Given the description of an element on the screen output the (x, y) to click on. 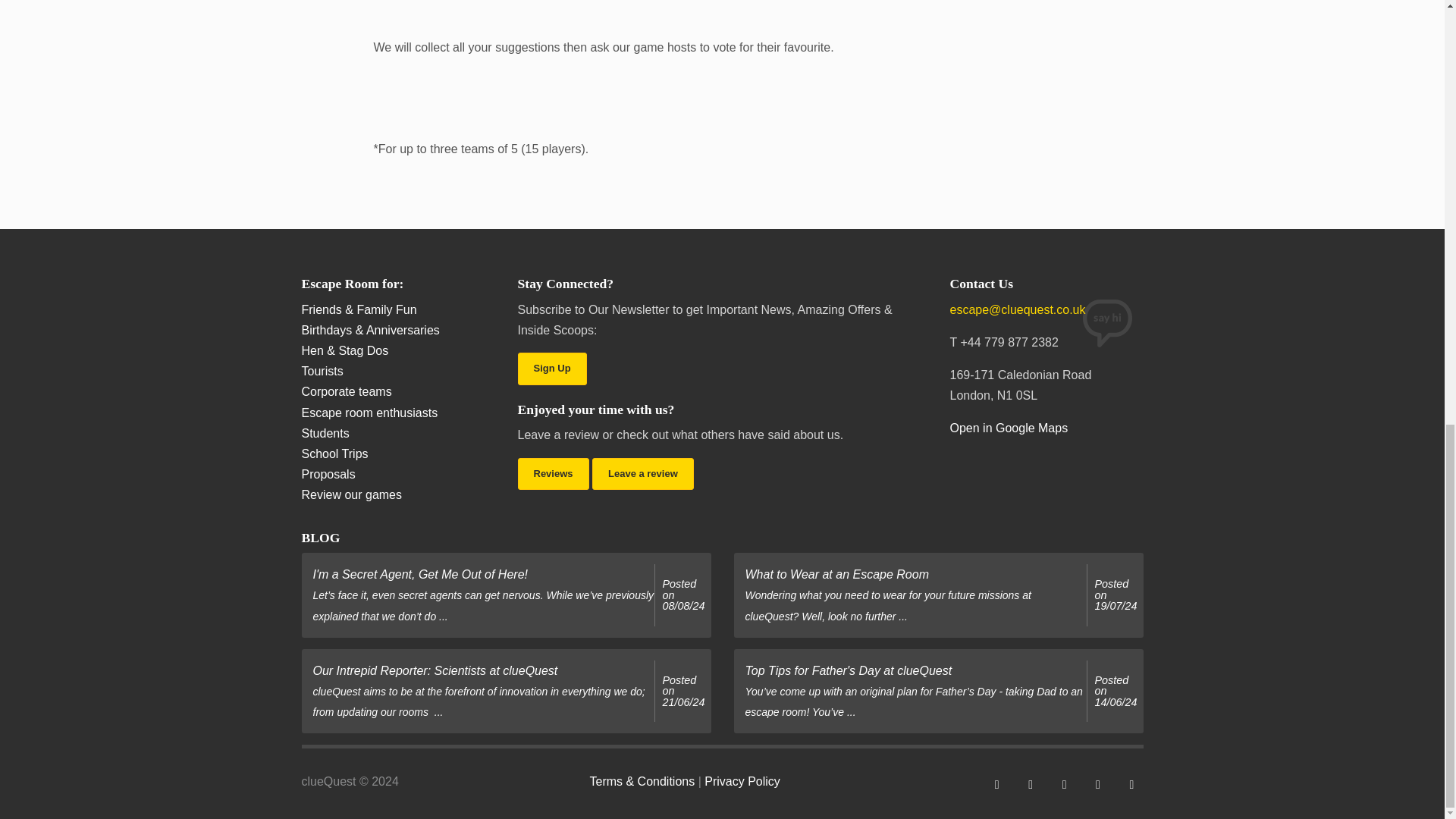
Twitter (1030, 782)
I'm a Secret Agent, Get Me Out of Here!  (683, 594)
Email (1130, 782)
Top Tips for Father's Day at clueQuest (1115, 690)
What to Wear at an Escape Room (1115, 594)
Instagram (1063, 782)
Tripadvisor (1097, 782)
Our Intrepid Reporter: Scientists at clueQuest (683, 690)
Facebook (997, 782)
